Given the description of an element on the screen output the (x, y) to click on. 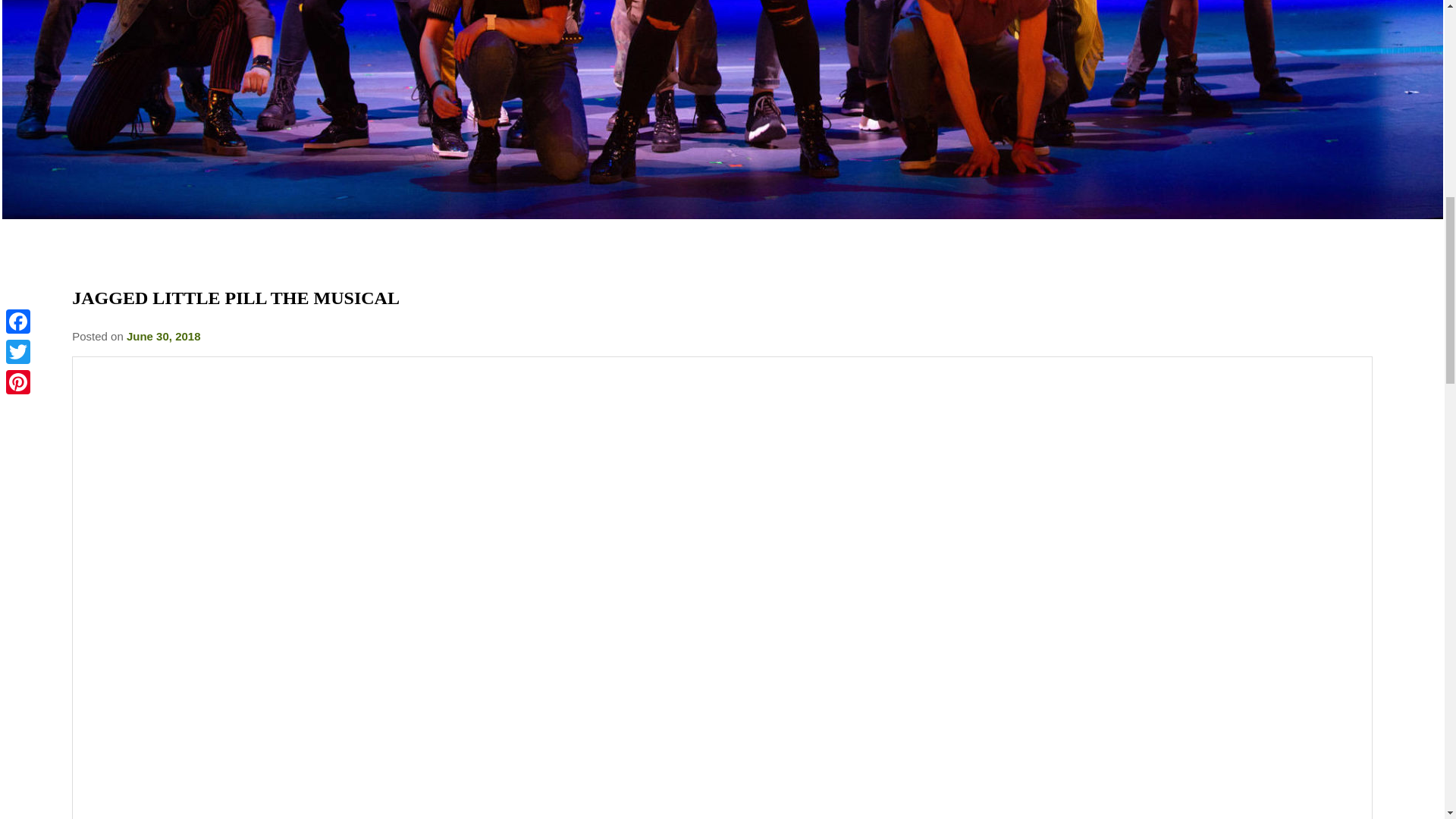
12:00 pm (163, 336)
